Given the description of an element on the screen output the (x, y) to click on. 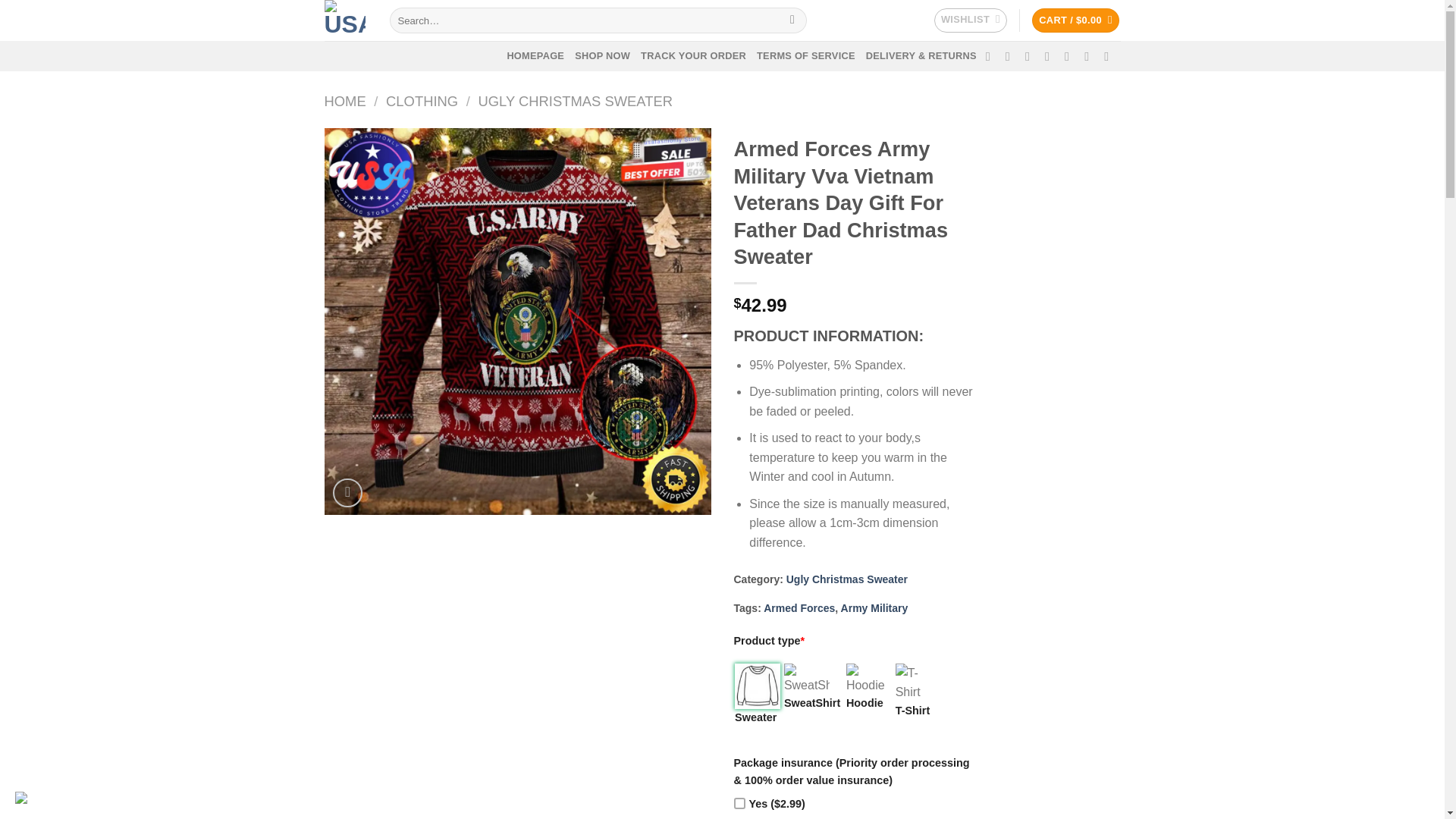
HOMEPAGE (535, 55)
Follow on YouTube (1109, 56)
Follow on Pinterest (1070, 56)
Armed Forces (798, 607)
Search (792, 20)
Usafashionly - Online Fashion store (345, 20)
Ugly Christmas Sweater (846, 579)
Follow on Facebook (991, 56)
SHOP NOW (602, 55)
